Given the description of an element on the screen output the (x, y) to click on. 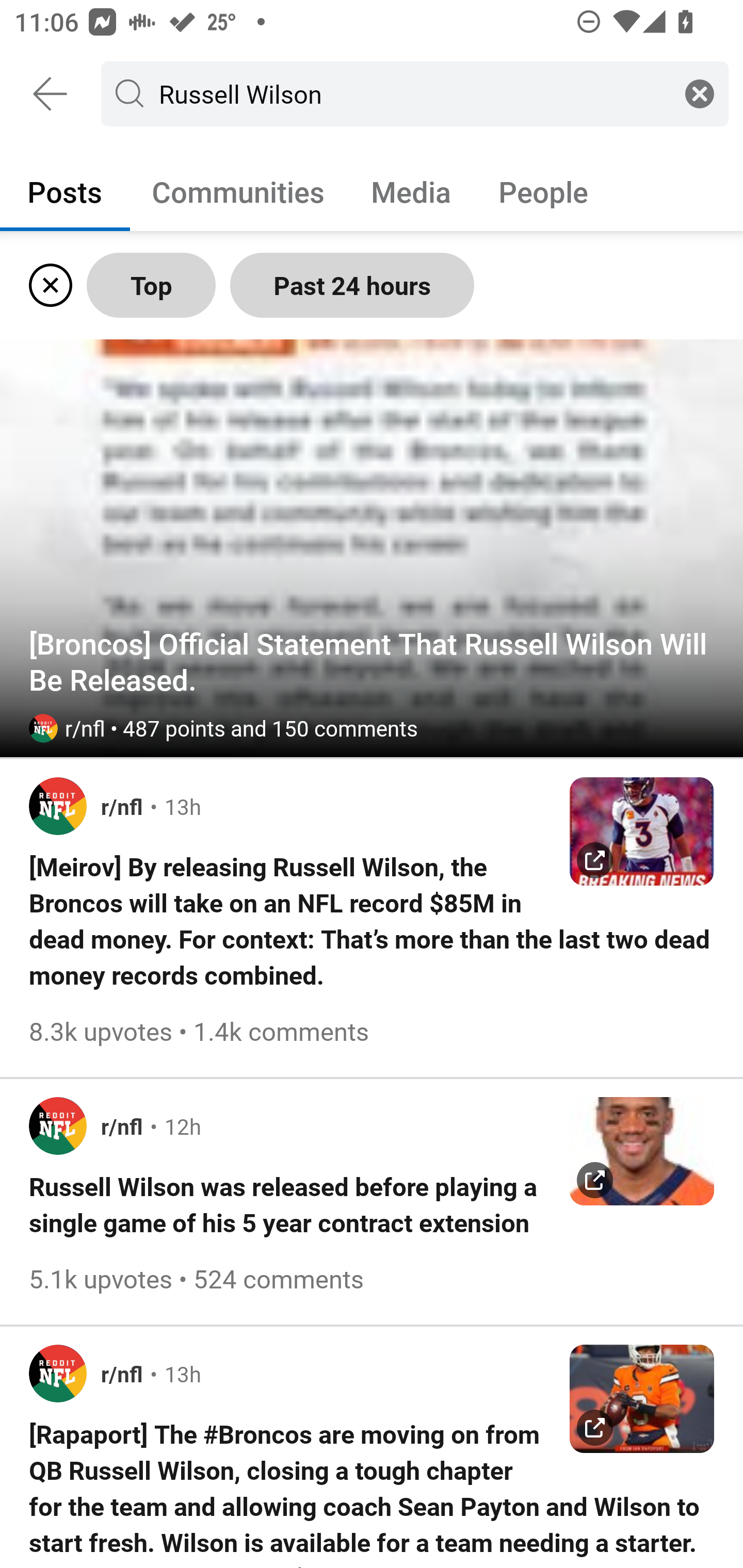
Back (50, 93)
Russell Wilson (410, 93)
Clear search (699, 93)
Communities (238, 191)
Media (411, 191)
People (542, 191)
Clear active filters (46, 285)
Top Sort by Top (150, 285)
Past 24 hours Filter Time by Past 24 hours (352, 285)
